Given the description of an element on the screen output the (x, y) to click on. 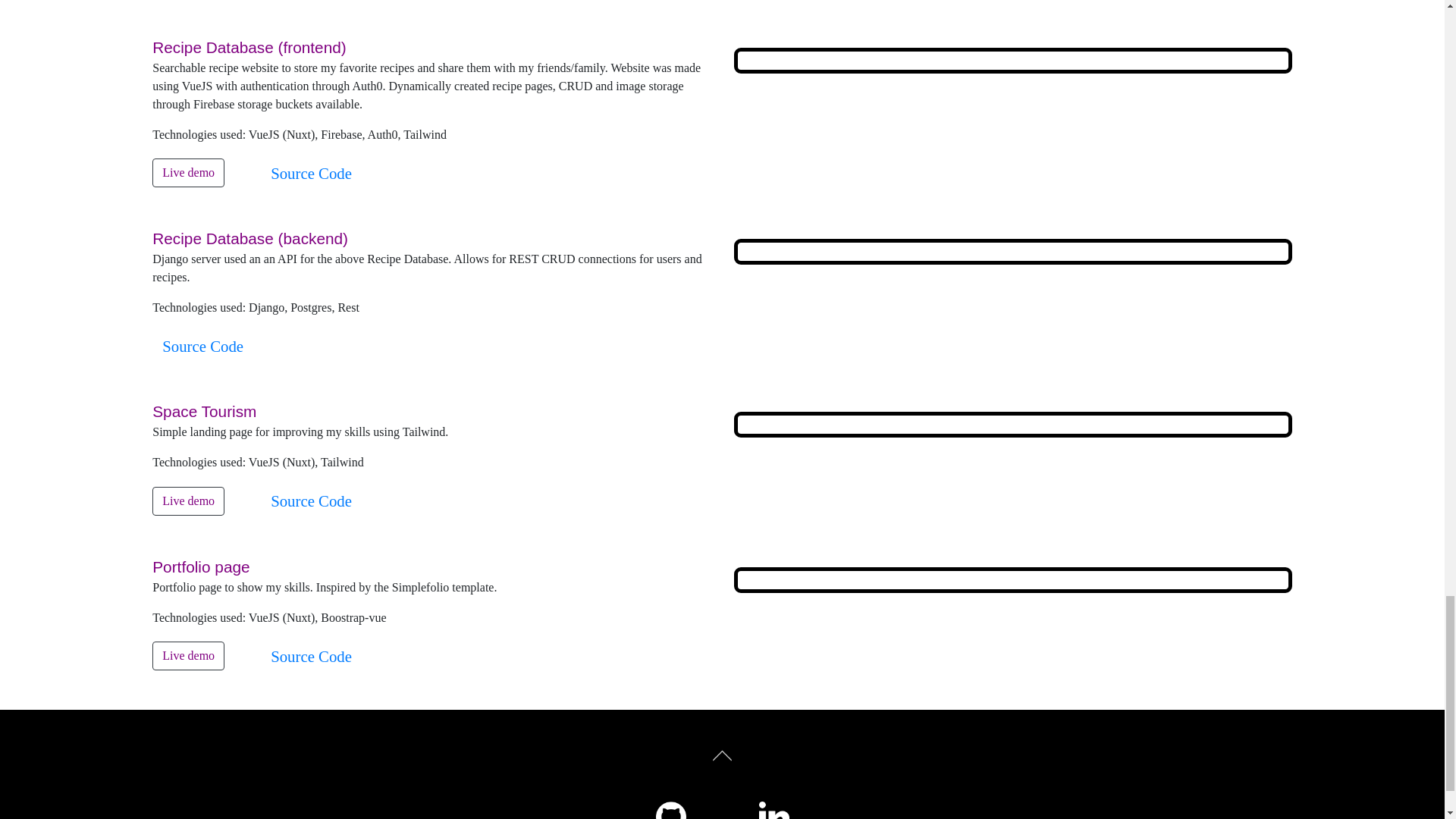
LinkedIn (773, 810)
Source Code (202, 346)
Source Code (310, 500)
Github (670, 810)
Source Code (310, 173)
Source Code (310, 656)
Live demo (188, 655)
Live demo (188, 172)
Live demo (188, 500)
